Given the description of an element on the screen output the (x, y) to click on. 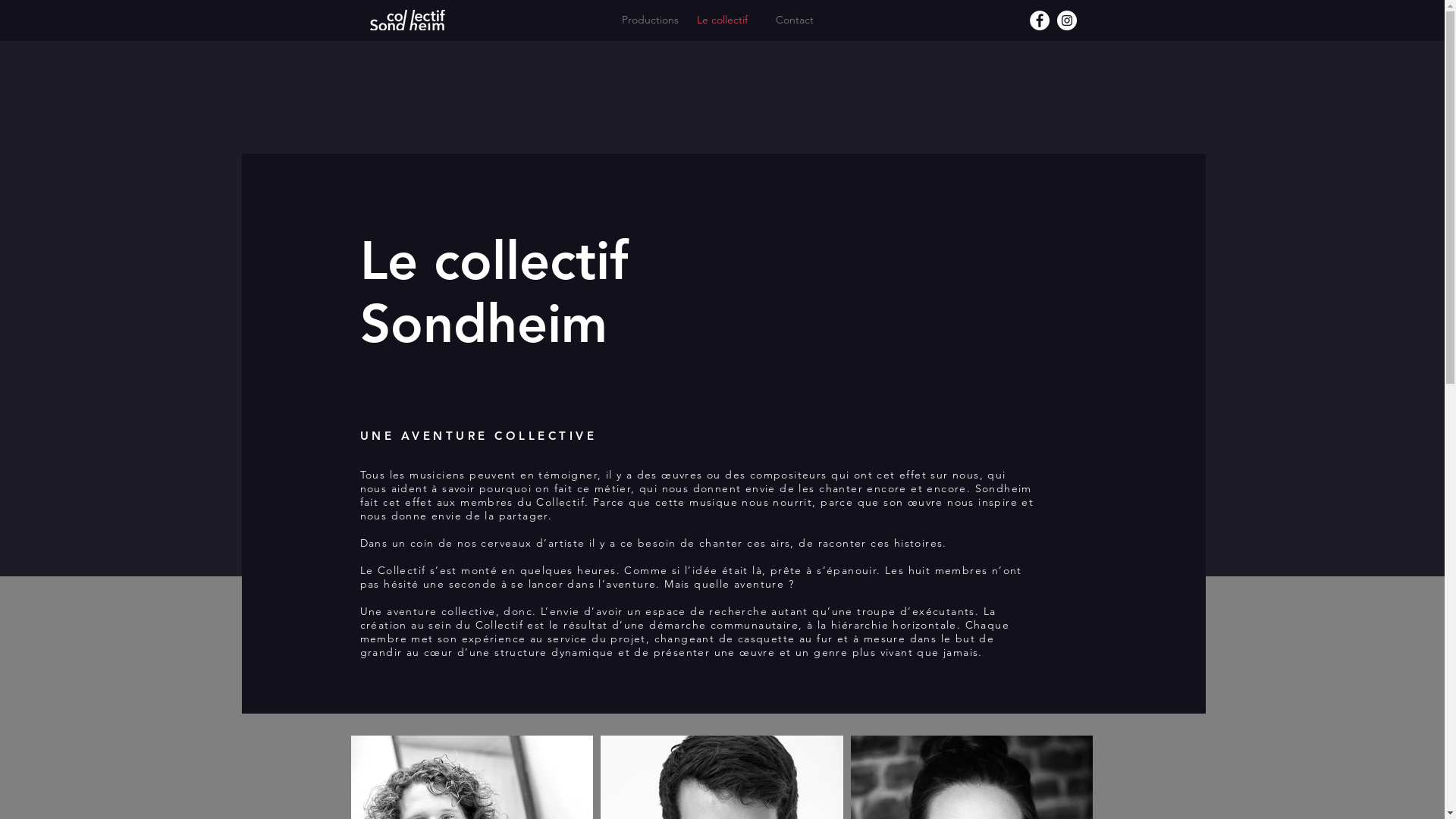
Contact Element type: text (794, 19)
Productions Element type: text (650, 19)
Le collectif Element type: text (722, 19)
